Given the description of an element on the screen output the (x, y) to click on. 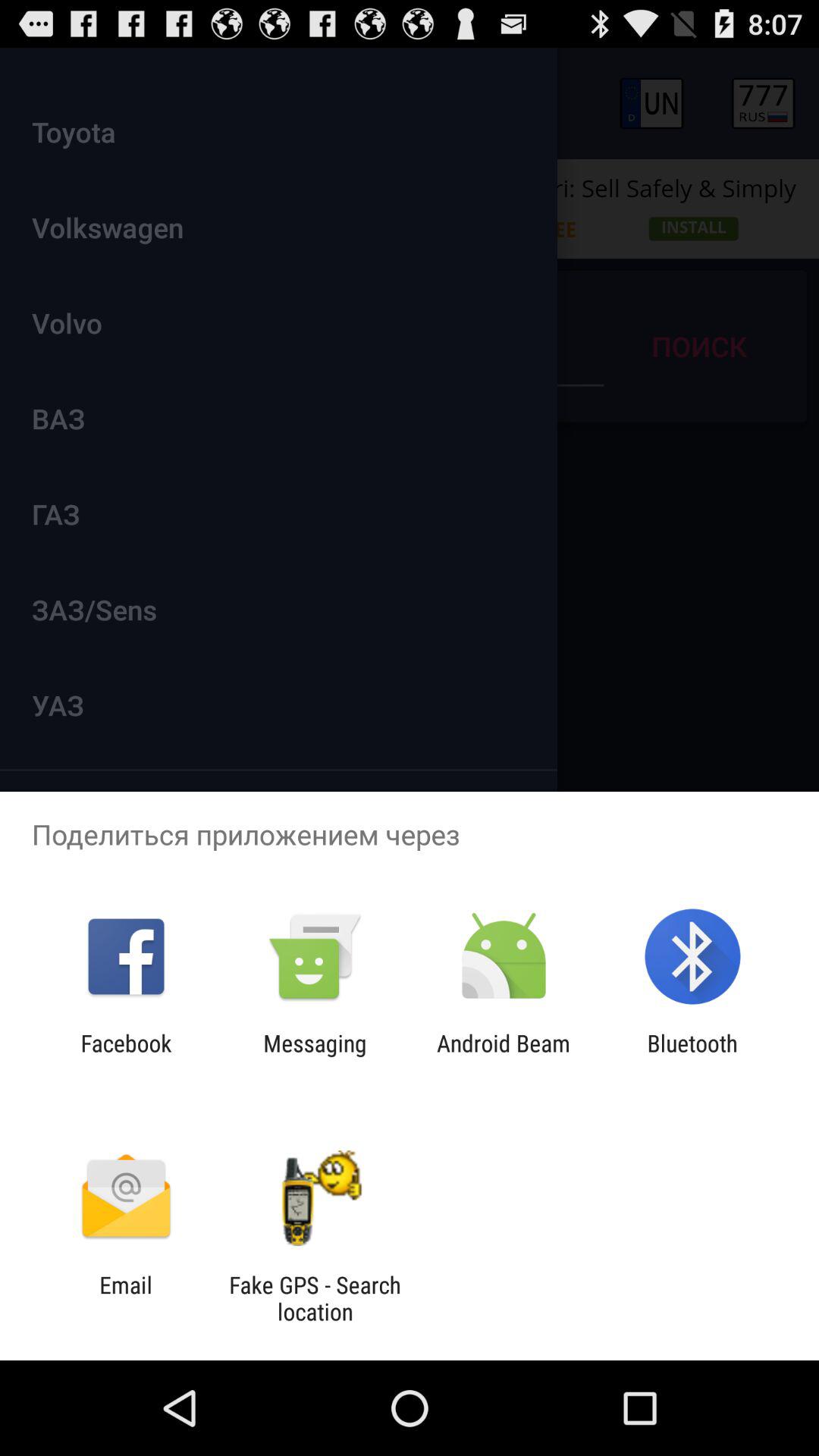
flip to messaging app (314, 1056)
